Given the description of an element on the screen output the (x, y) to click on. 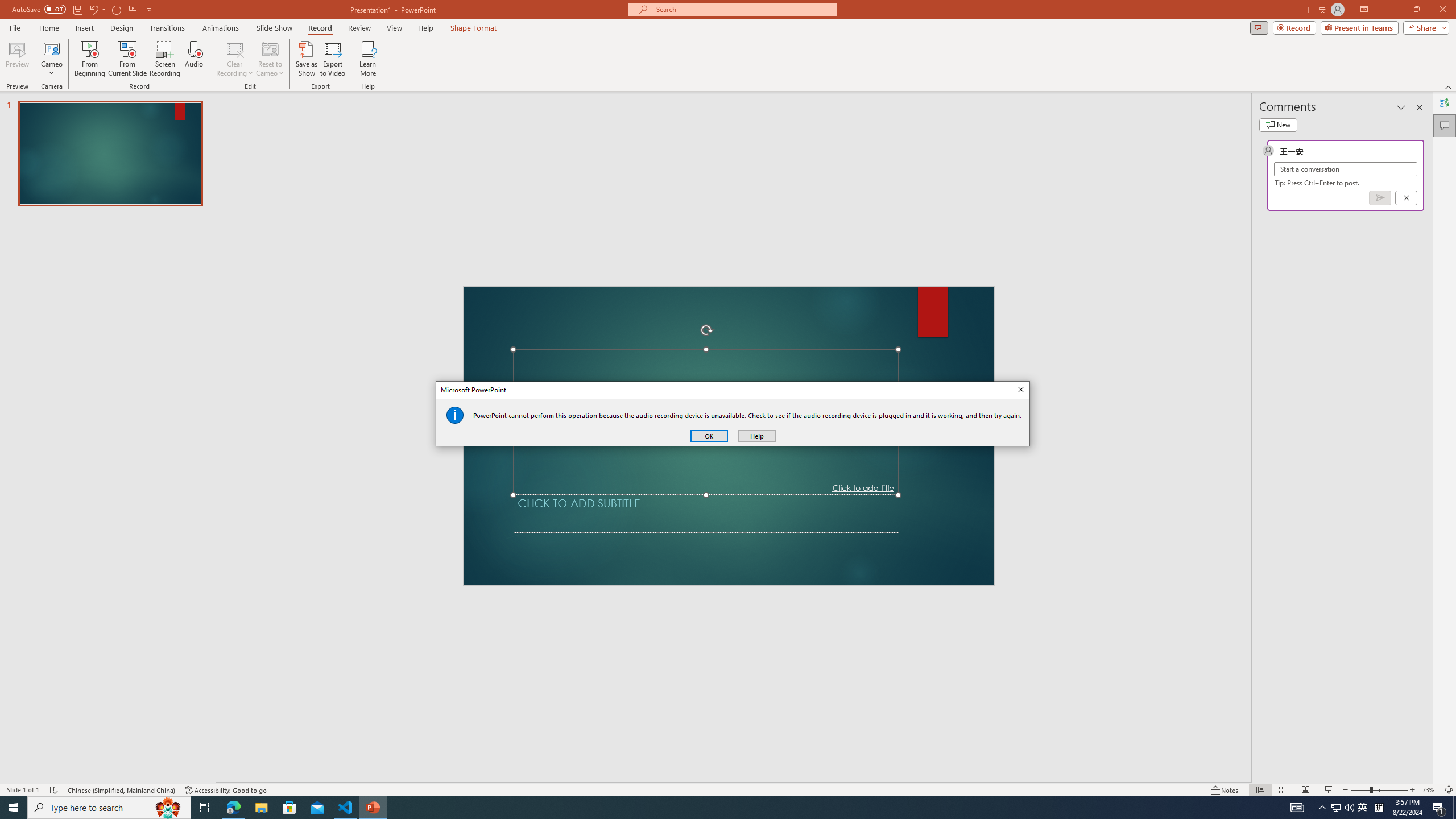
Post comment (Ctrl + Enter) (1379, 197)
Class: Static (454, 415)
New comment (1278, 124)
